Given the description of an element on the screen output the (x, y) to click on. 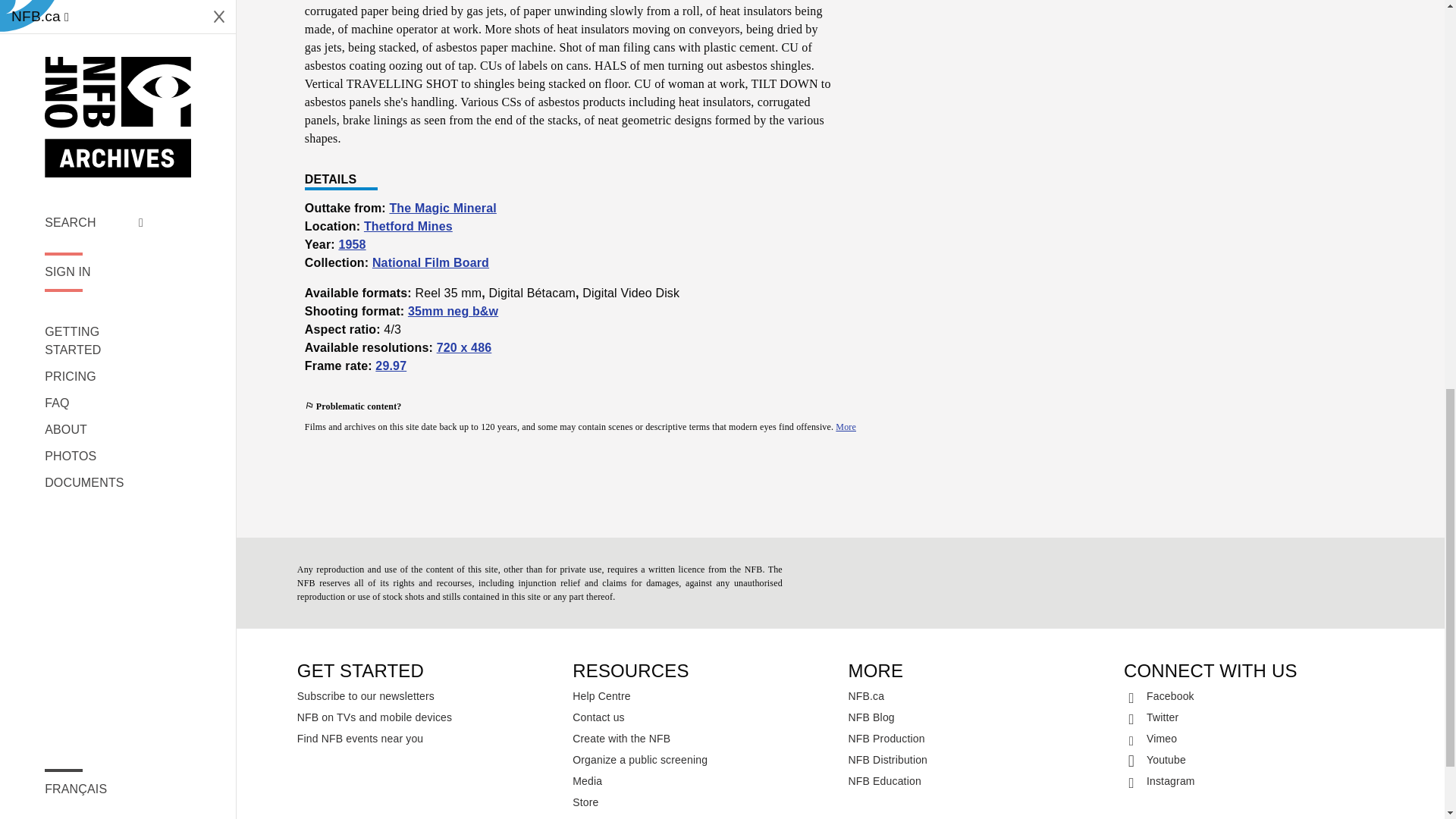
The Magic Mineral (442, 207)
1958 (351, 244)
Thetford Mines (408, 226)
720 x 486 (464, 347)
National Film Board (430, 262)
